Given the description of an element on the screen output the (x, y) to click on. 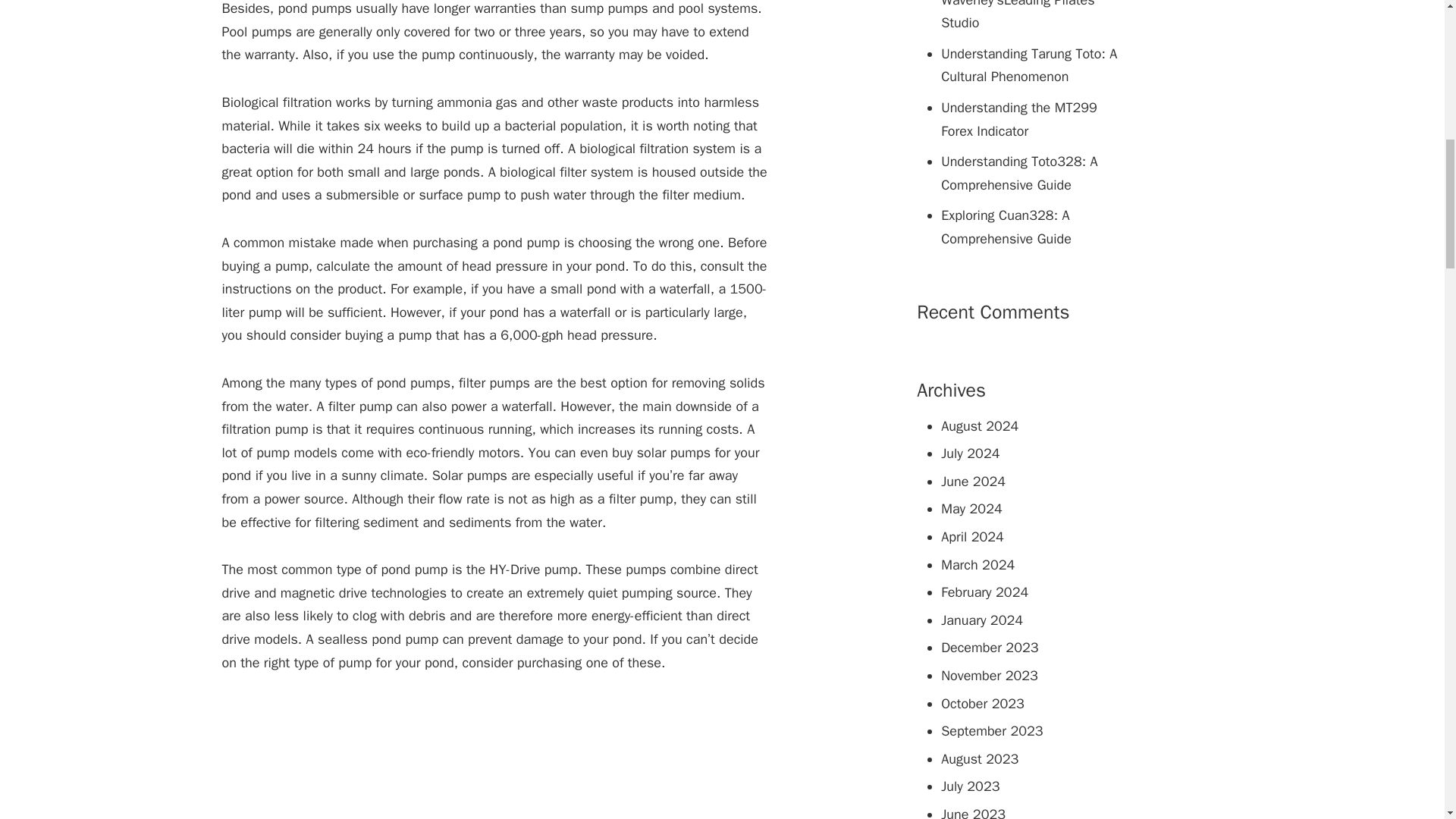
Understanding the MT299 Forex Indicator (1032, 119)
May 2024 (971, 508)
November 2023 (989, 675)
January 2024 (981, 619)
September 2023 (991, 730)
July 2023 (969, 786)
July 2024 (969, 453)
February 2024 (983, 591)
October 2023 (982, 703)
Understanding Toto328: A Comprehensive Guide (1032, 172)
Exploring Cuan328: A Comprehensive Guide (1032, 226)
April 2024 (972, 536)
June 2024 (973, 481)
August 2023 (978, 759)
June 2023 (973, 812)
